Given the description of an element on the screen output the (x, y) to click on. 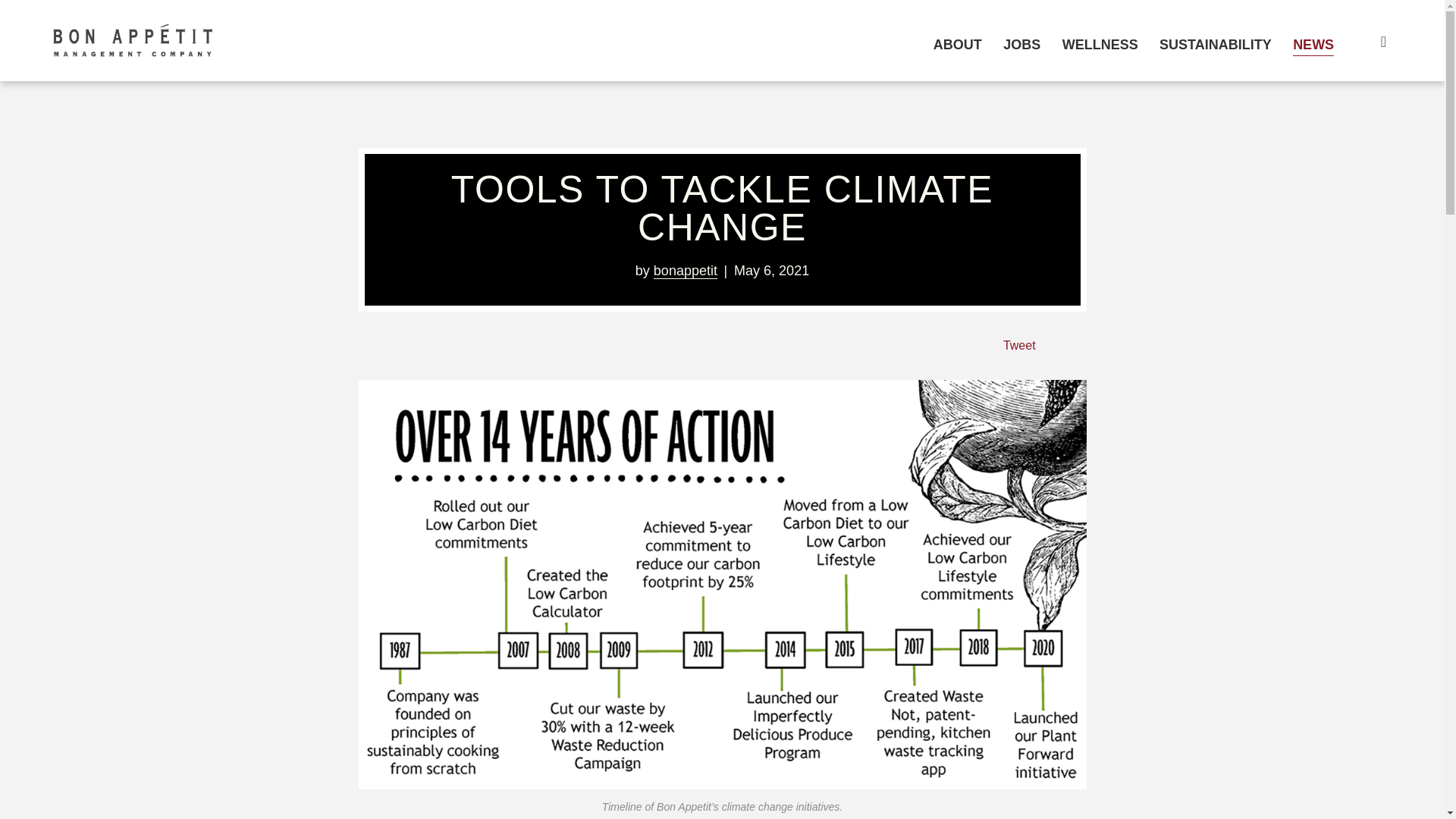
WELLNESS (1100, 43)
JOBS (1022, 43)
SUSTAINABILITY (1214, 43)
Search (1373, 41)
ABOUT (957, 43)
